Given the description of an element on the screen output the (x, y) to click on. 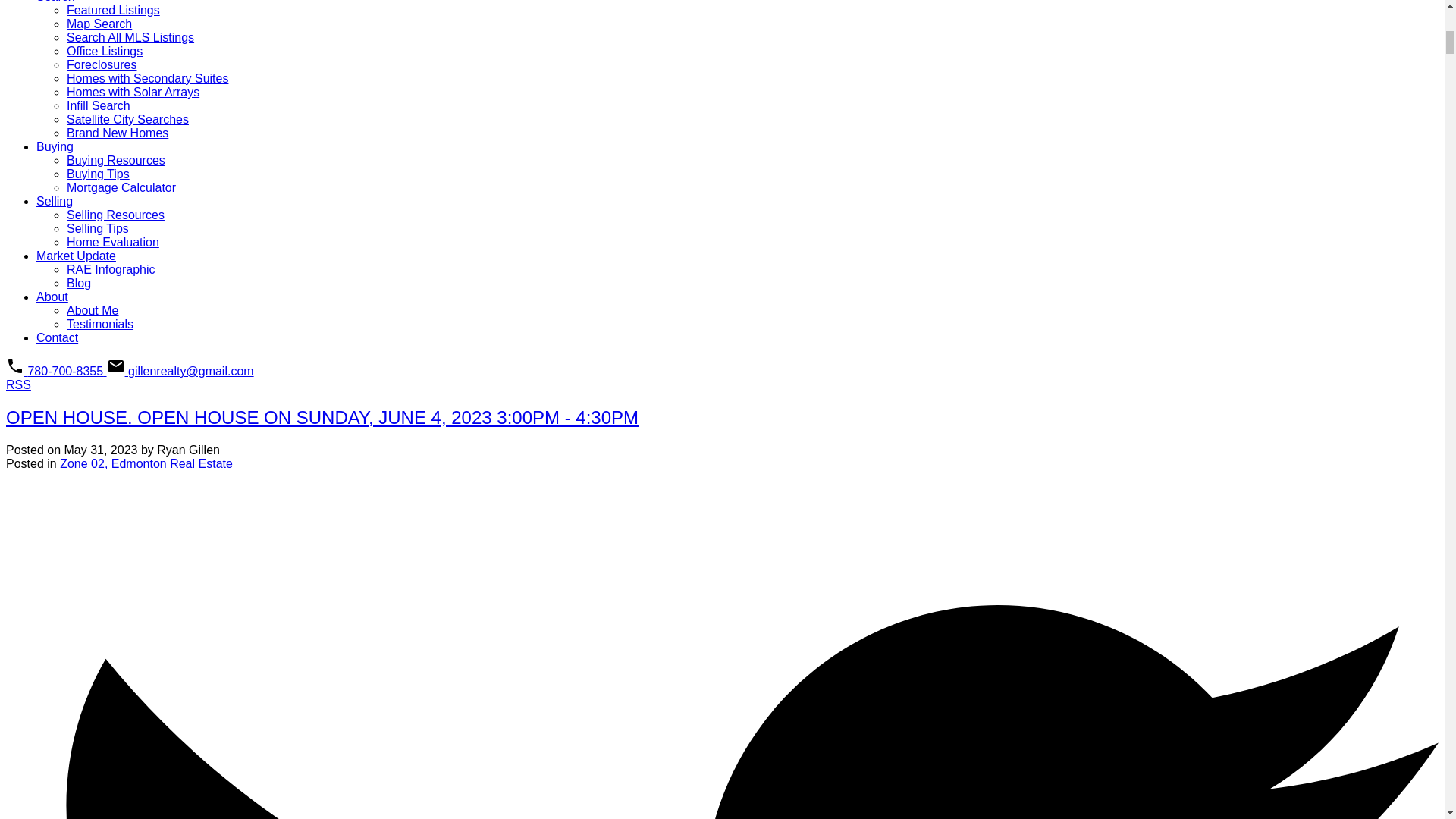
Search (55, 1)
Office Listings (104, 51)
Featured Listings (113, 10)
Search All MLS Listings (129, 37)
Map Search (99, 23)
Homes with Secondary Suites (147, 78)
Foreclosures (101, 64)
